Given the description of an element on the screen output the (x, y) to click on. 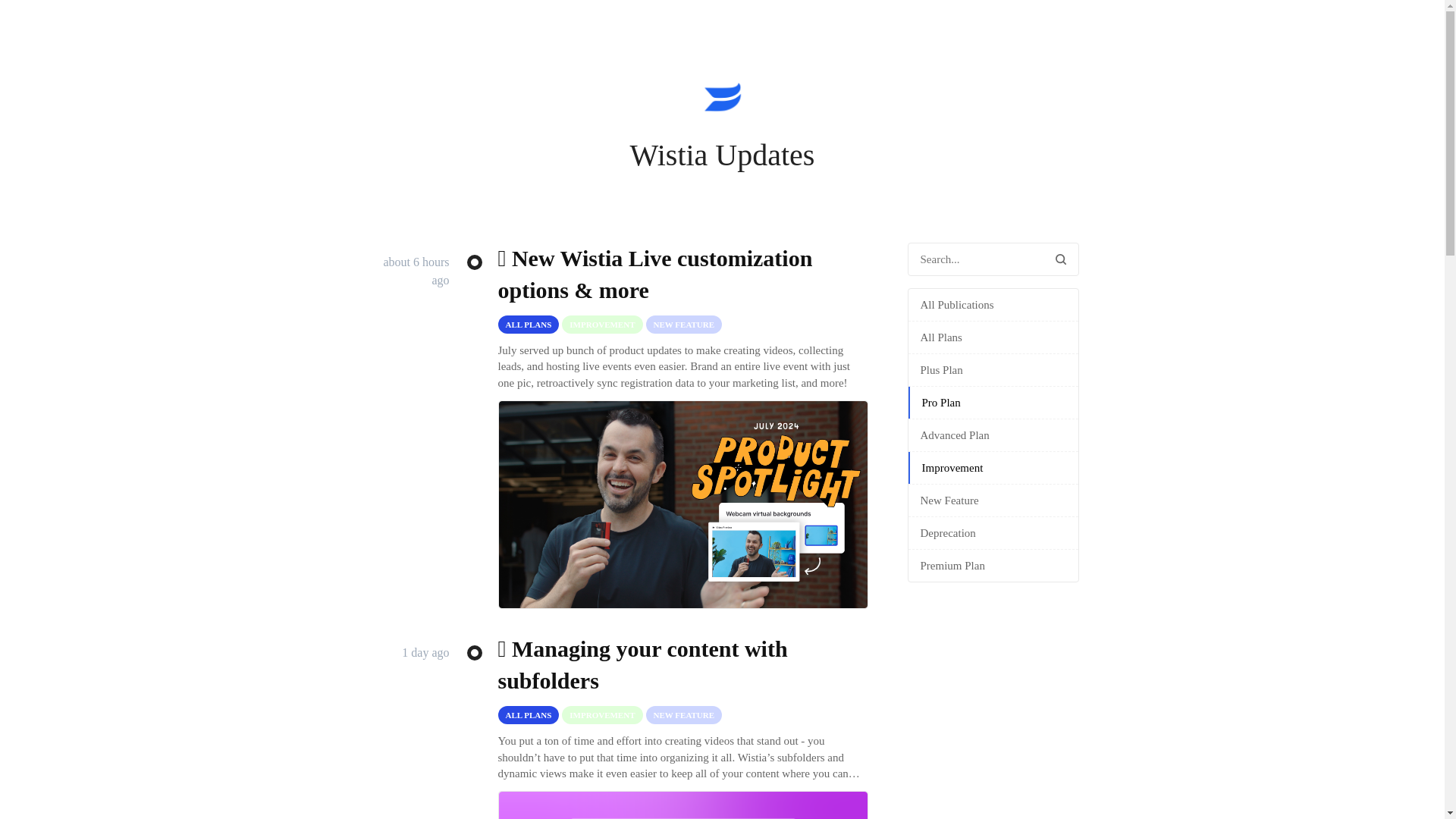
Plus Plan (993, 369)
Advanced Plan (993, 435)
New Feature (993, 500)
Search (1060, 259)
All Publications (993, 305)
Premium Plan (993, 565)
Advanced Plan (993, 435)
Pro Plan (993, 402)
Pro Plan (993, 402)
All Plans (993, 336)
New Feature (993, 500)
Improvement (993, 468)
All Publications (993, 305)
Premium Plan (993, 565)
Wistia (721, 99)
